Given the description of an element on the screen output the (x, y) to click on. 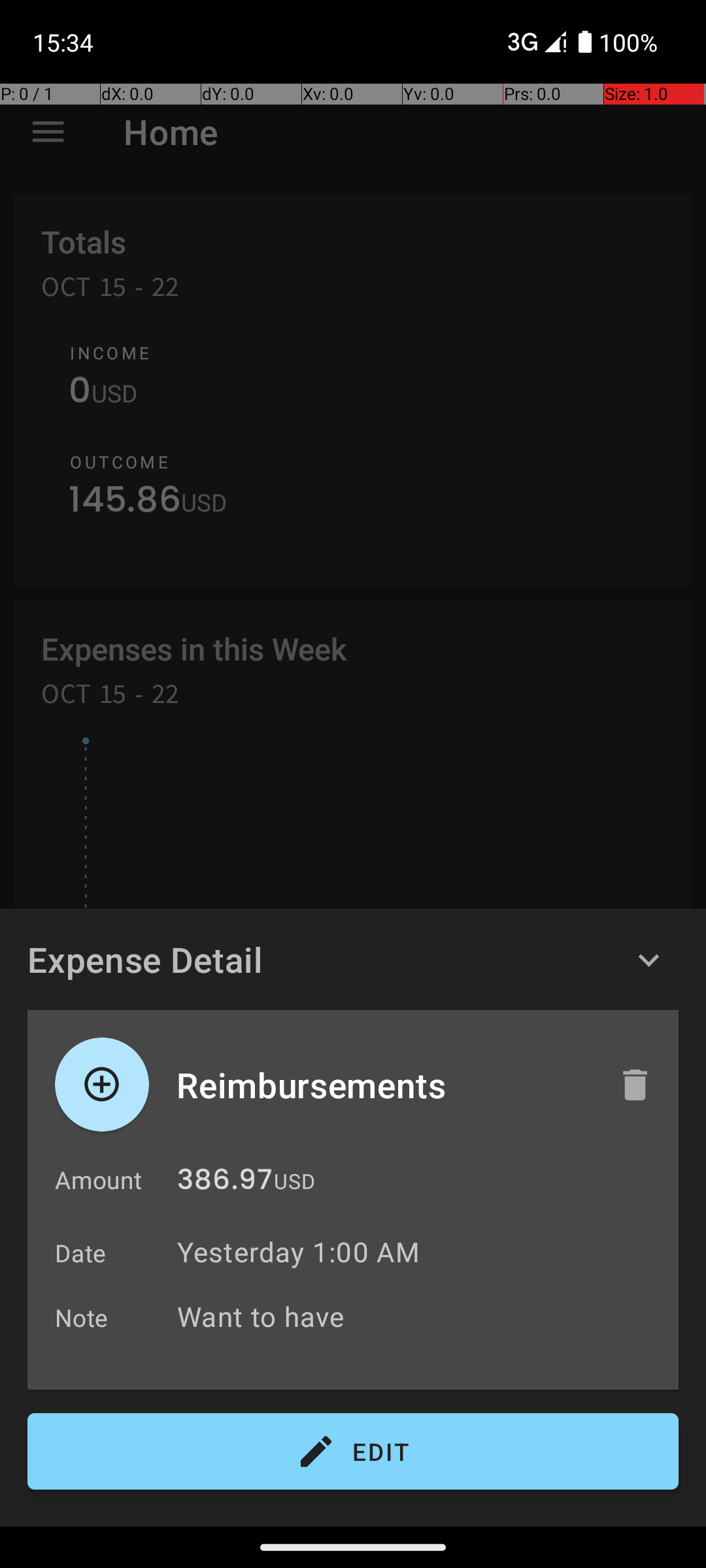
Expense Detail Element type: android.widget.TextView (145, 959)
Reimbursements Element type: android.widget.TextView (383, 1084)
Amount Element type: android.widget.TextView (97, 1179)
386.97 Element type: android.widget.TextView (224, 1182)
USD Element type: android.widget.TextView (294, 1180)
Date Element type: android.widget.TextView (80, 1252)
Yesterday 1:00 AM Element type: android.widget.TextView (298, 1251)
Note Element type: android.widget.TextView (81, 1317)
Want to have Element type: android.widget.TextView (420, 1315)
EDIT Element type: android.widget.Button (352, 1451)
